Given the description of an element on the screen output the (x, y) to click on. 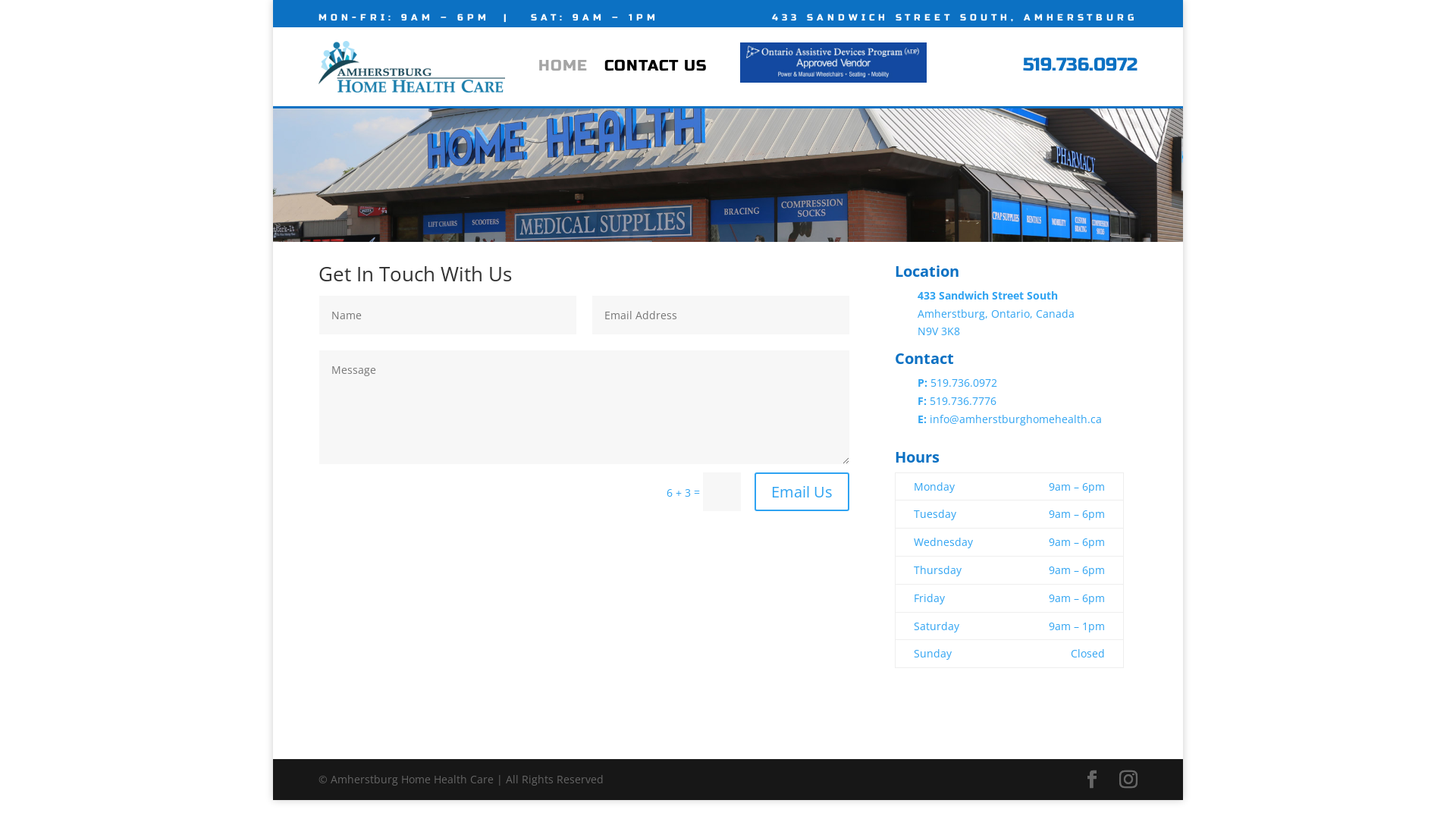
Email Us Element type: text (801, 491)
CONTACT US Element type: text (655, 68)
adp-header-banner Element type: hover (833, 62)
HOME Element type: text (562, 68)
hero Element type: hover (728, 248)
519.736.0972 Element type: text (1079, 64)
